Given the description of an element on the screen output the (x, y) to click on. 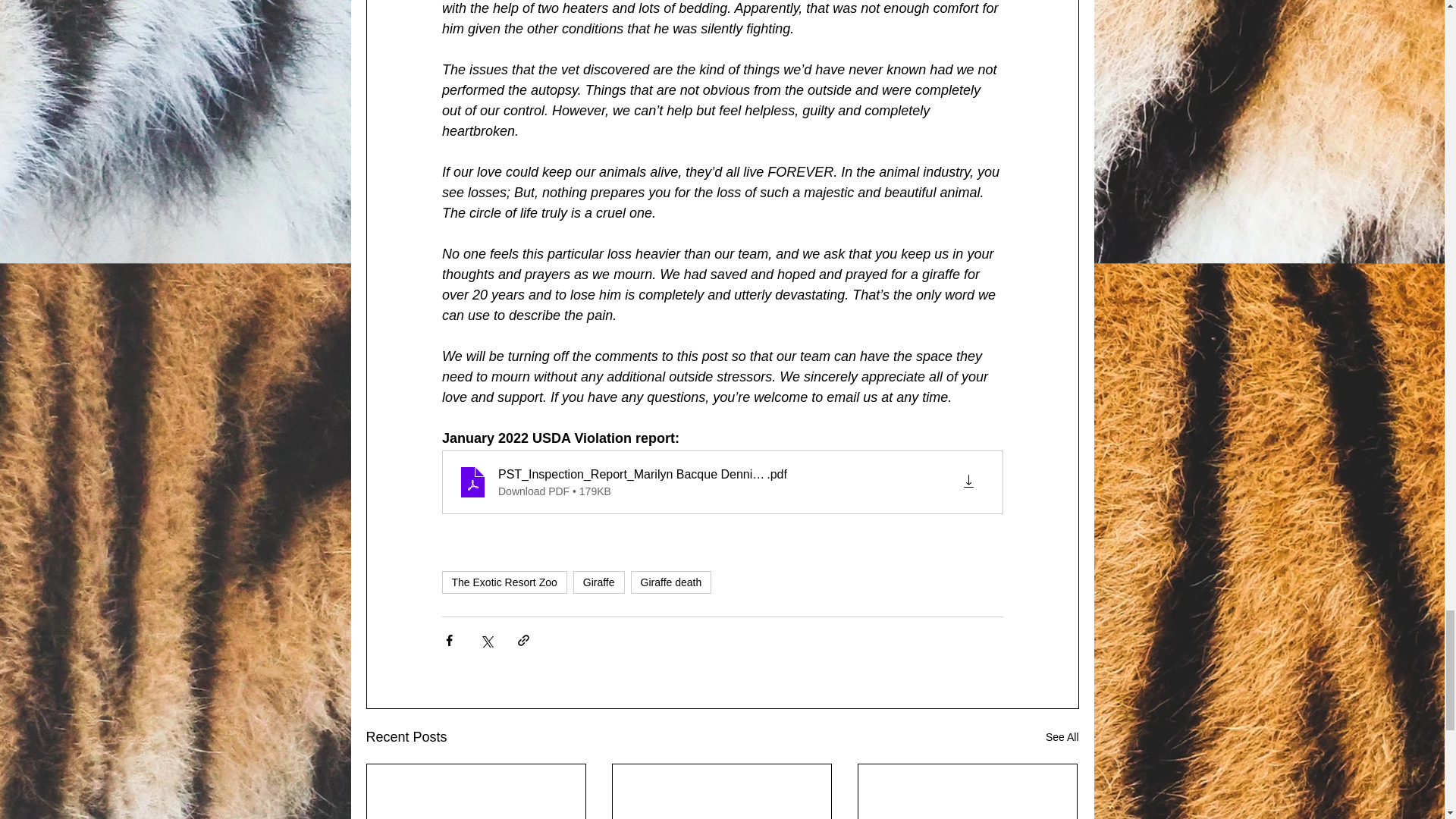
The Exotic Resort Zoo (503, 581)
See All (1061, 737)
Giraffe (598, 581)
Giraffe death (670, 581)
